Given the description of an element on the screen output the (x, y) to click on. 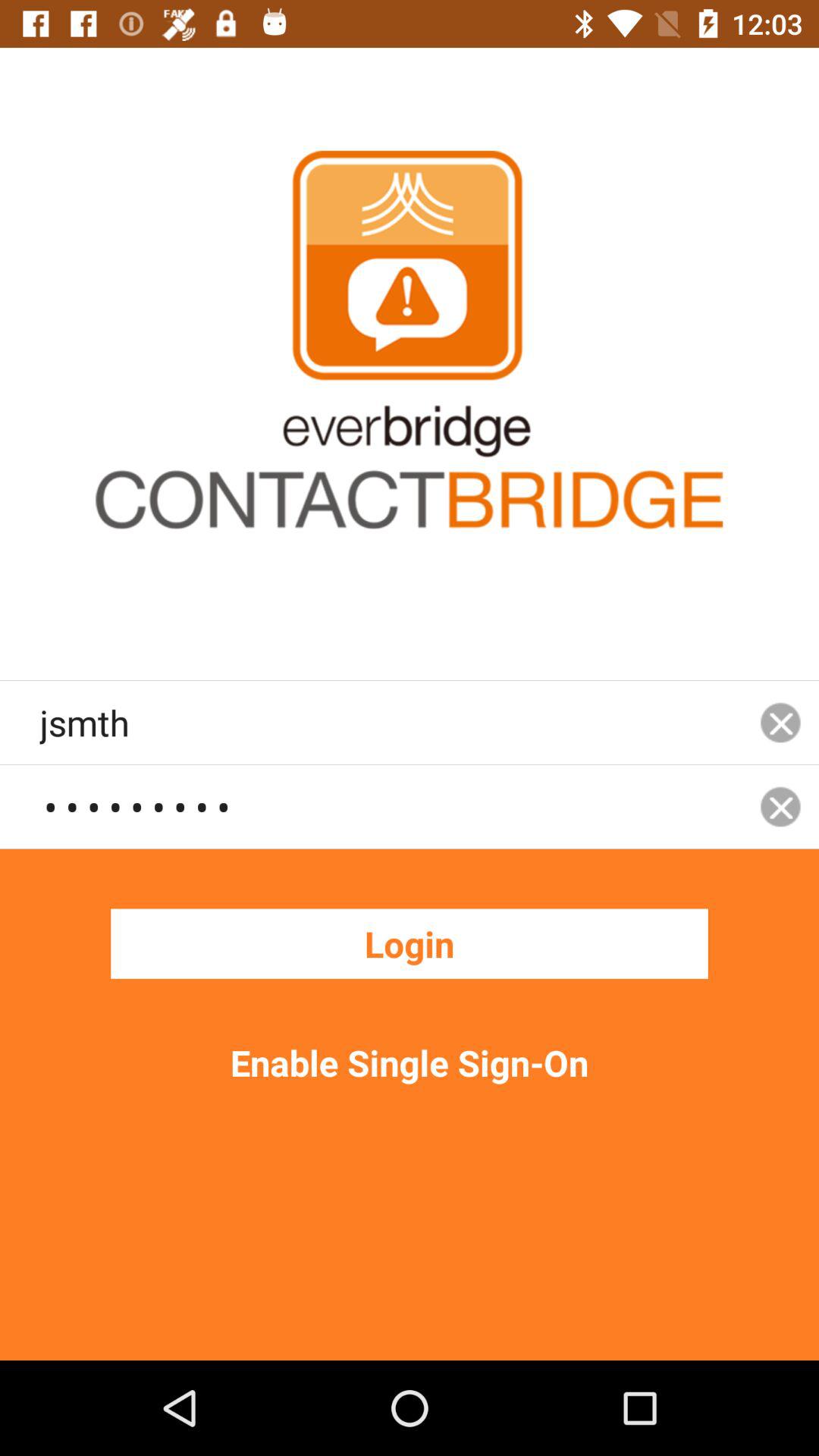
swipe until the login (409, 943)
